Given the description of an element on the screen output the (x, y) to click on. 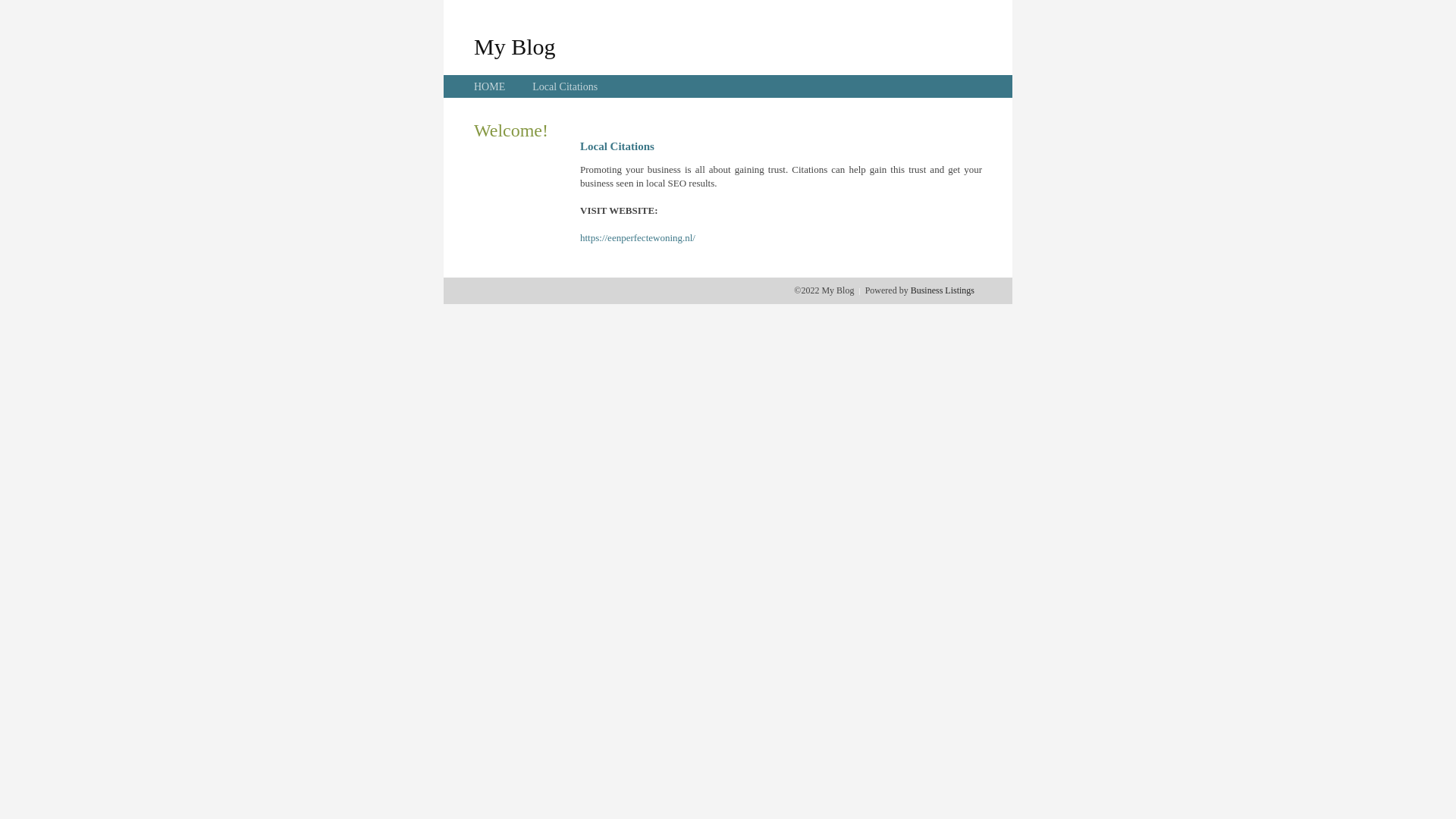
My Blog Element type: text (514, 46)
HOME Element type: text (489, 86)
https://eenperfectewoning.nl/ Element type: text (637, 237)
Business Listings Element type: text (942, 290)
Local Citations Element type: text (564, 86)
